Given the description of an element on the screen output the (x, y) to click on. 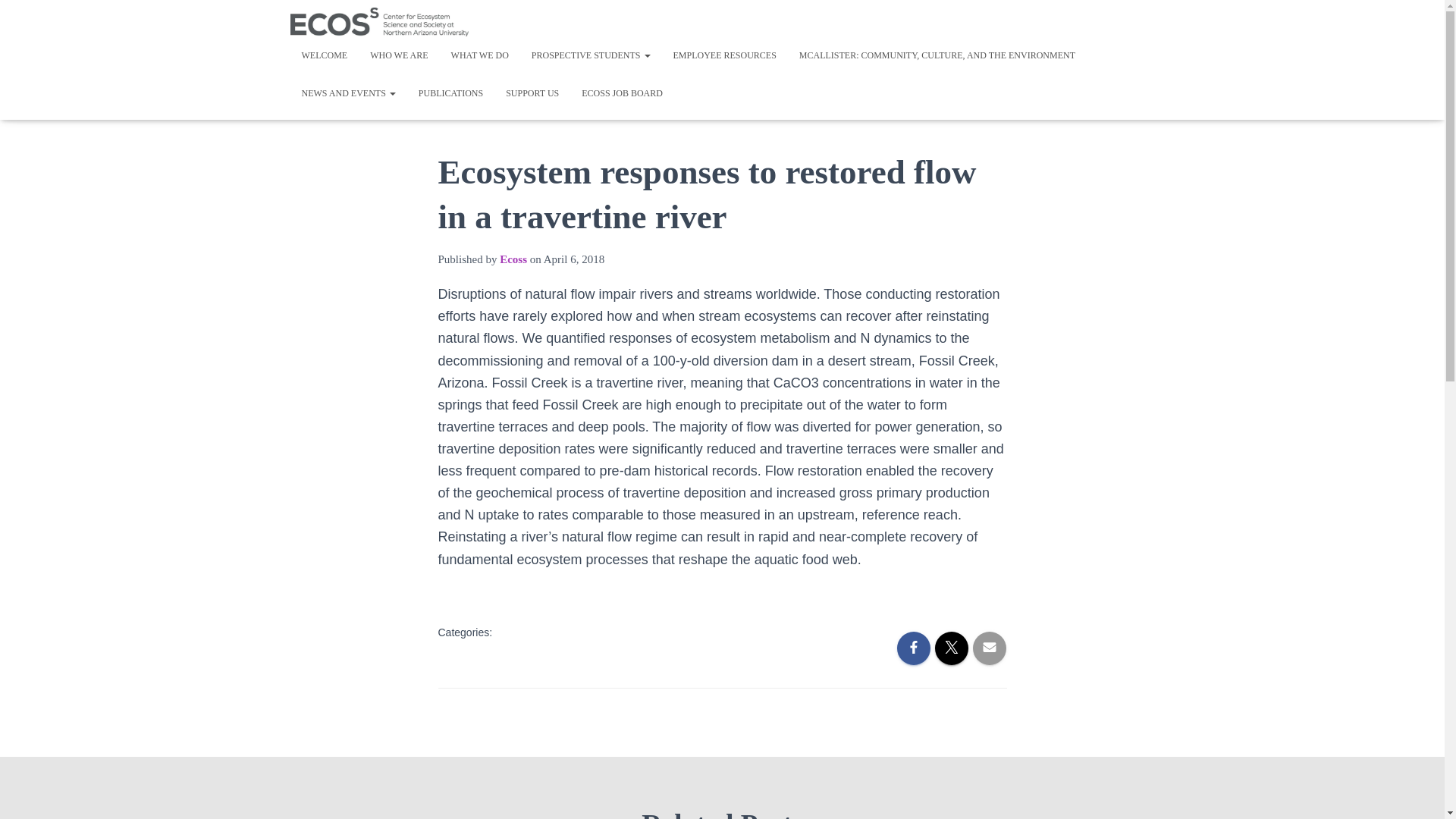
Publications (451, 93)
Prospective Students (590, 55)
What We Do (479, 55)
WHO WE ARE (398, 55)
Who We Are (398, 55)
EMPLOYEE RESOURCES (724, 55)
Ecoss (513, 259)
Employee Resources (724, 55)
Support Us (532, 93)
MCALLISTER: COMMUNITY, CULTURE, AND THE ENVIRONMENT (936, 55)
SUPPORT US (532, 93)
PROSPECTIVE STUDENTS (590, 55)
Welcome (323, 55)
McAllister: Community, Culture, and the Environment (936, 55)
ECOSS Job Board (622, 93)
